Given the description of an element on the screen output the (x, y) to click on. 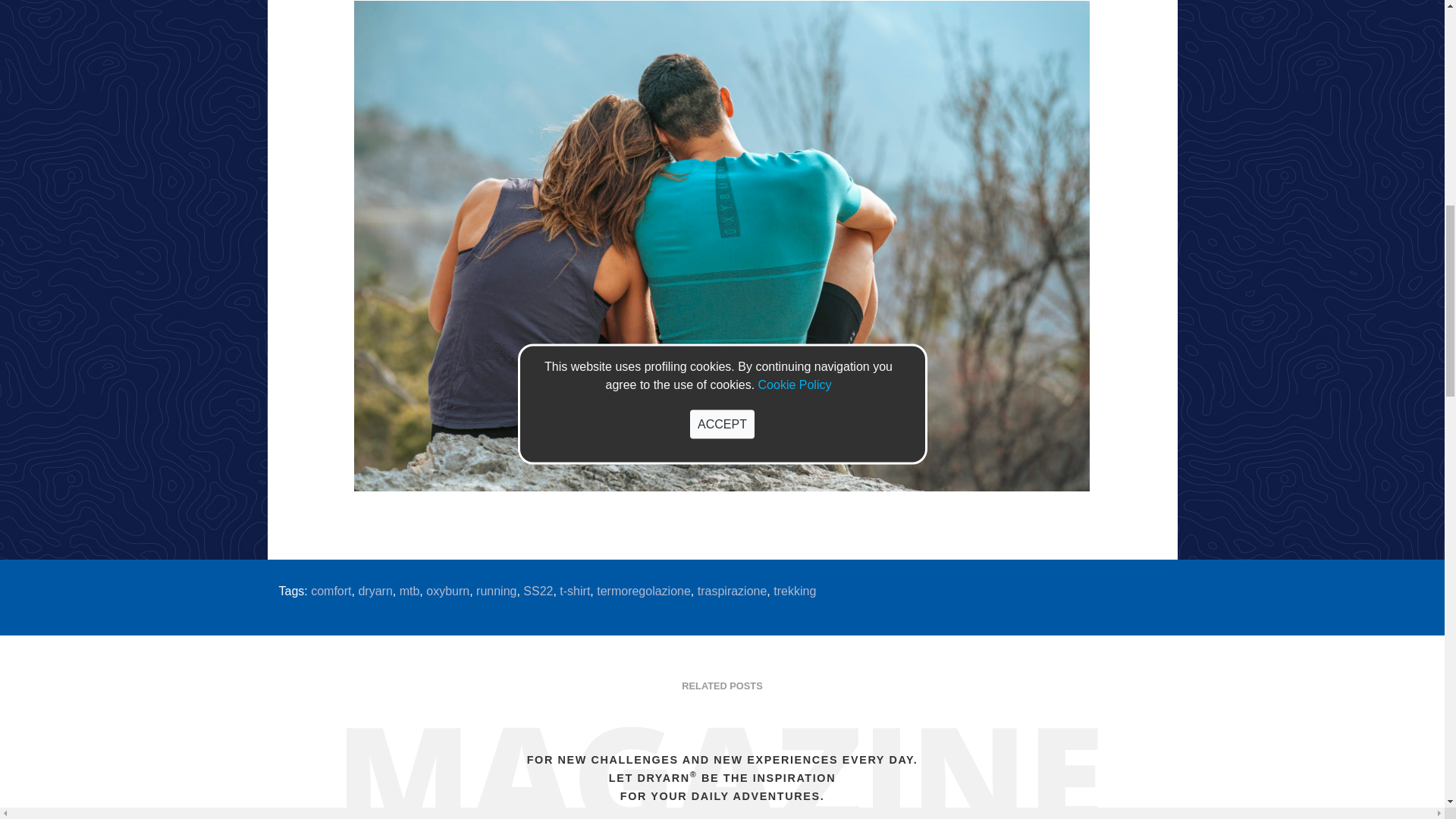
traspirazione (732, 590)
dryarn (374, 590)
t-shirt (574, 590)
running (496, 590)
termoregolazione (643, 590)
comfort (330, 590)
oxyburn (447, 590)
SS22 (537, 590)
mtb (409, 590)
